Given the description of an element on the screen output the (x, y) to click on. 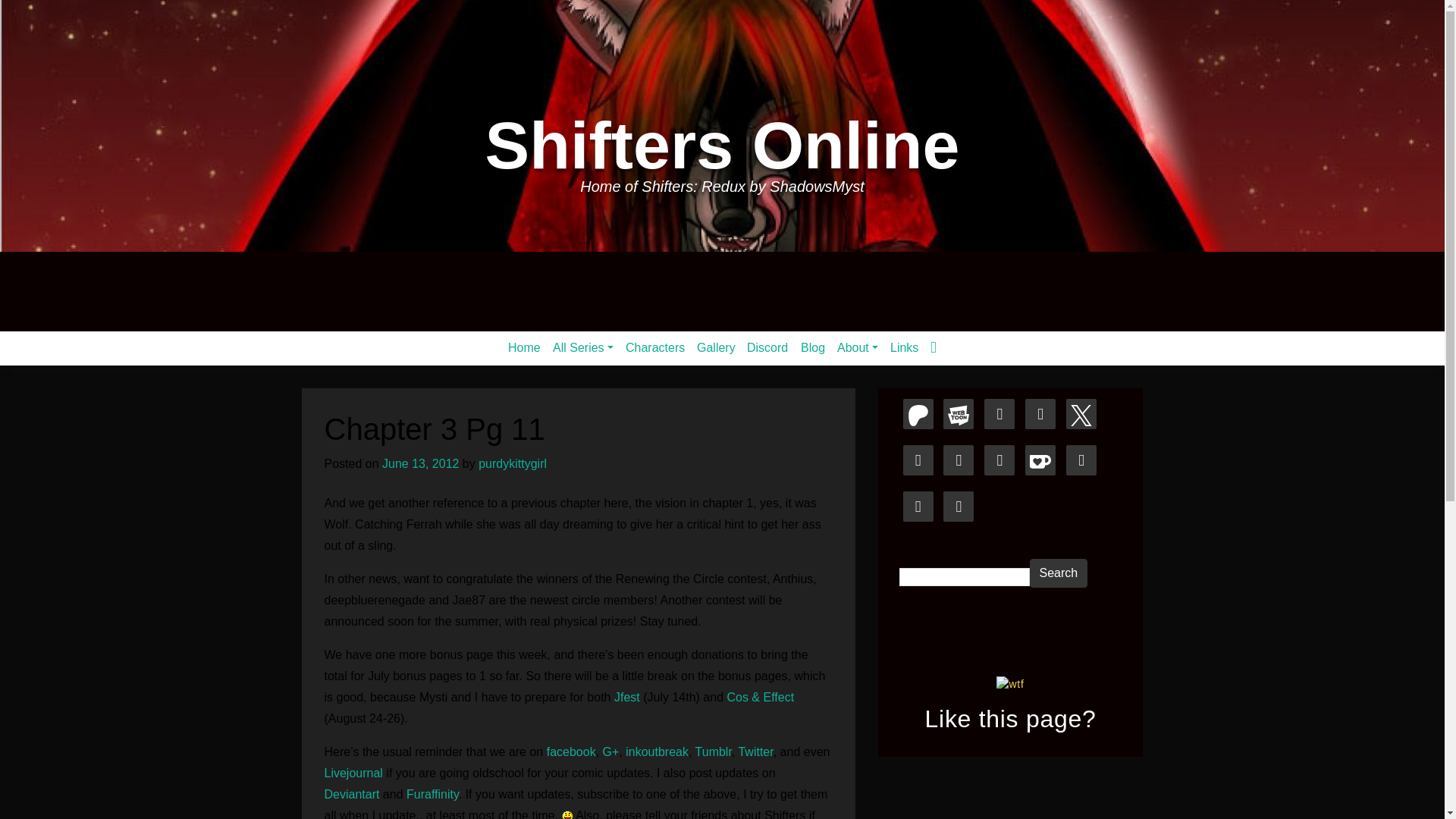
purdykittygirl (513, 463)
Home (524, 347)
Links (903, 347)
Jfest (628, 697)
Discord (767, 347)
Characters (655, 347)
Blog (812, 347)
Furaffinity (432, 793)
Tumblr (713, 751)
All Series (583, 347)
About (857, 347)
facebook (571, 751)
Home (524, 347)
Deviantart (352, 793)
All Series (583, 347)
